Given the description of an element on the screen output the (x, y) to click on. 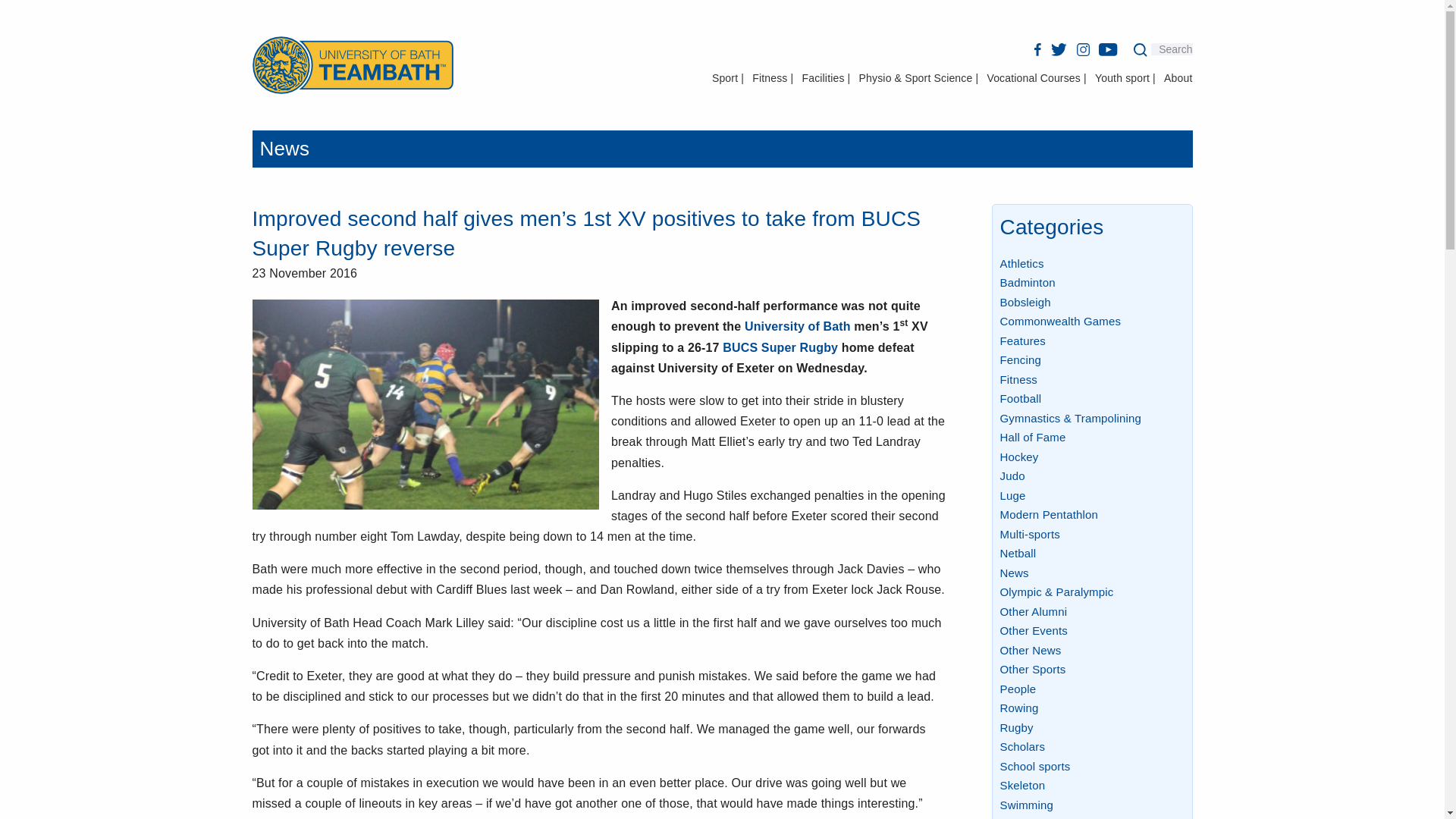
News (283, 148)
Hall of Fame (1031, 436)
Judo (1011, 475)
Features (1021, 340)
Luge (1011, 495)
Commonwealth Games (1059, 320)
Football (1019, 398)
Hockey (1018, 456)
University of Bath (797, 326)
Multi-sports (1028, 533)
